Given the description of an element on the screen output the (x, y) to click on. 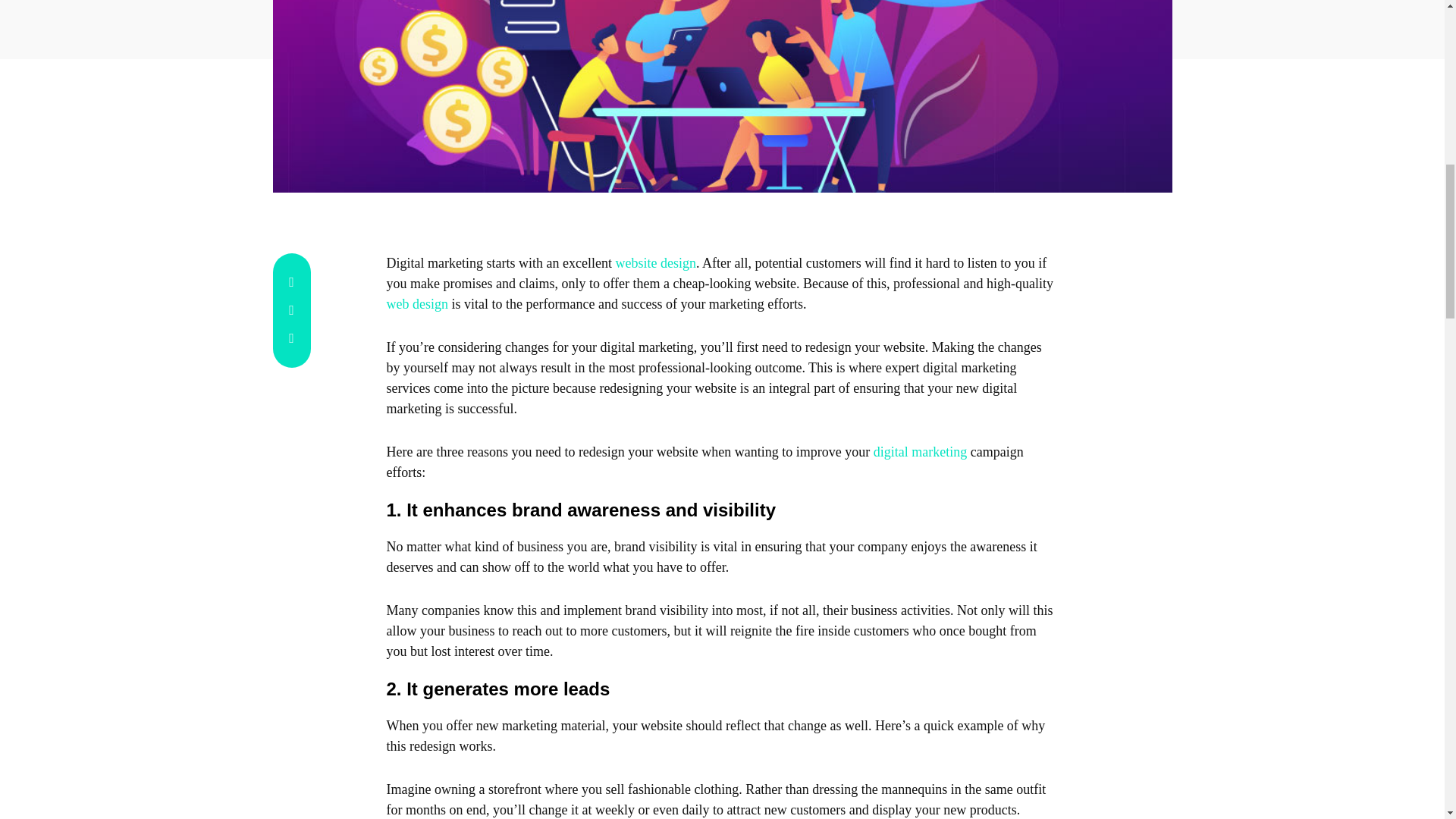
website design (654, 263)
digital marketing (919, 451)
web design (417, 304)
